Given the description of an element on the screen output the (x, y) to click on. 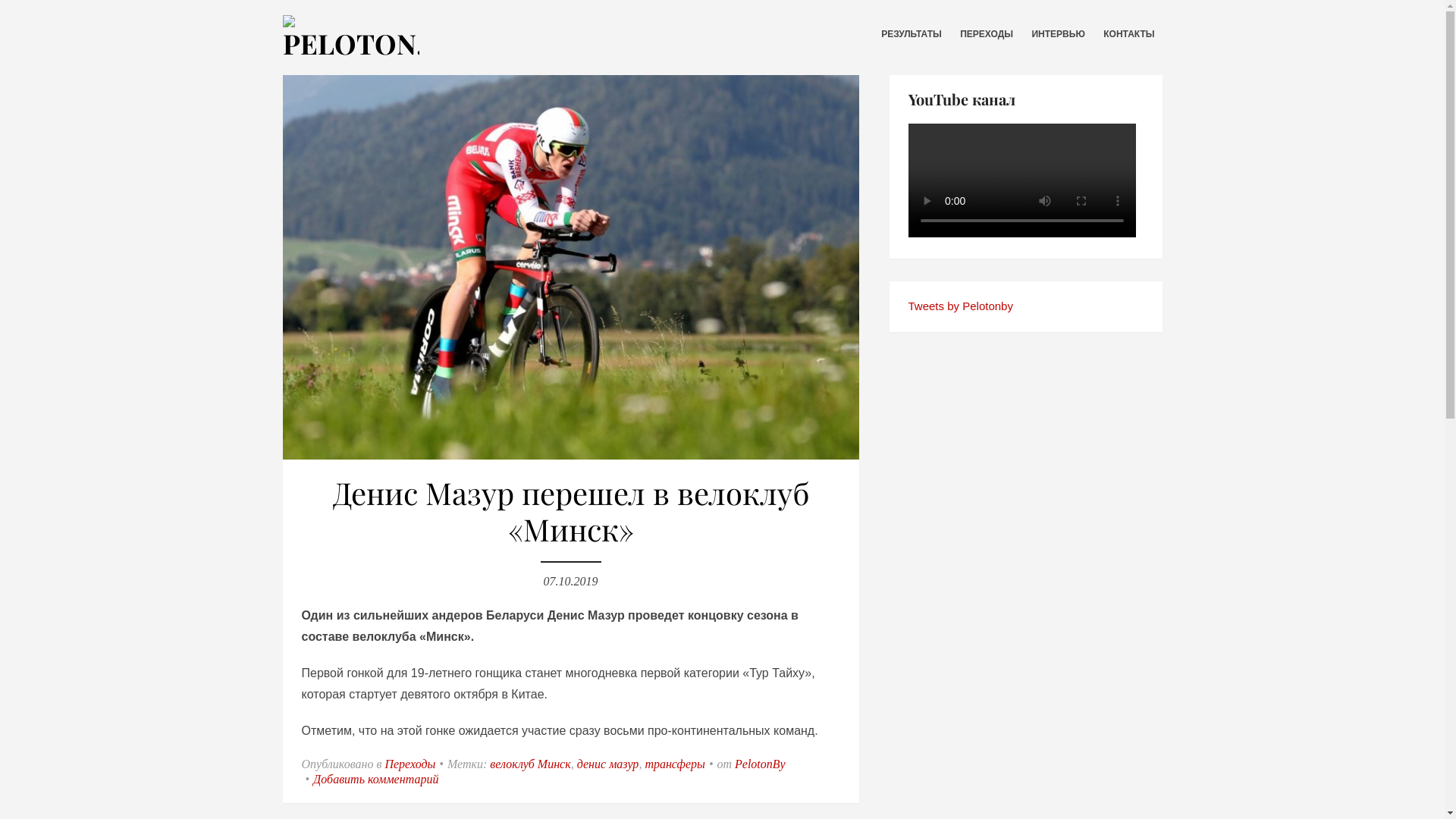
Tweets by Pelotonby Element type: text (960, 305)
PelotonBy Element type: text (759, 763)
